Given the description of an element on the screen output the (x, y) to click on. 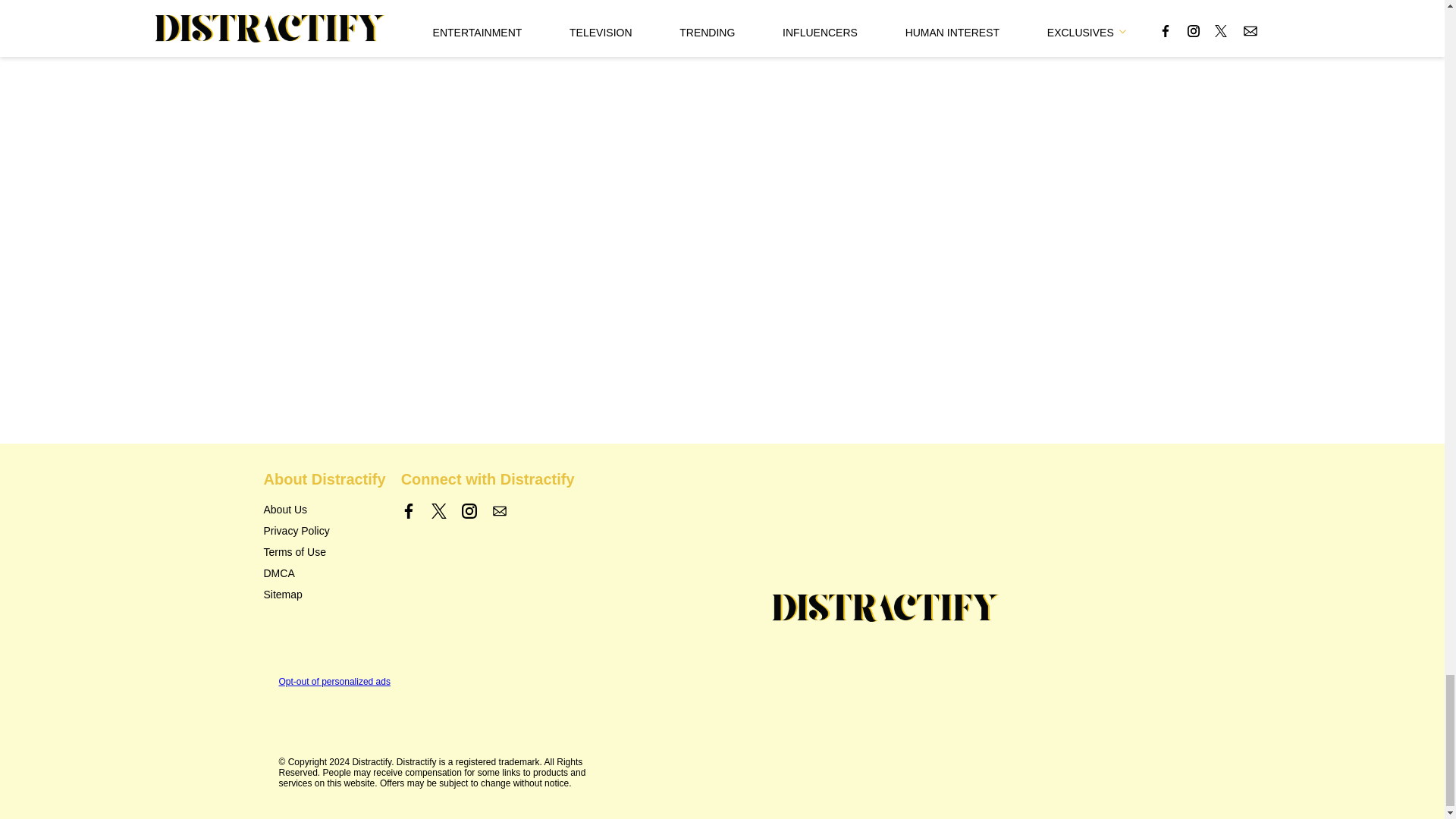
Contact us by Email (499, 510)
Privacy Policy (296, 530)
Sitemap (282, 594)
About Us (285, 509)
Link to Facebook (408, 510)
DMCA (279, 573)
Link to Instagram (469, 510)
Terms of Use (294, 551)
Link to X (438, 510)
